Given the description of an element on the screen output the (x, y) to click on. 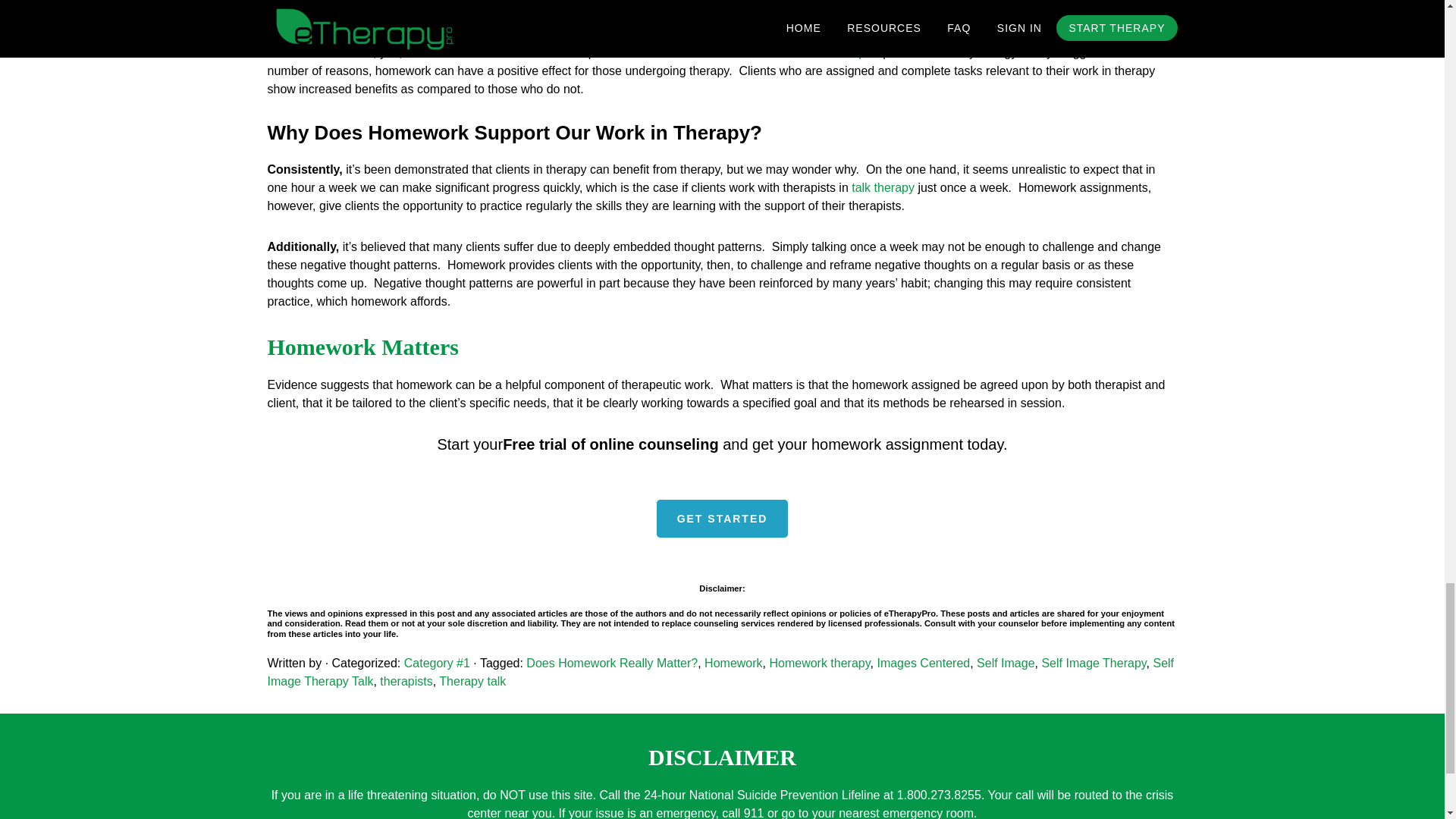
Homework (732, 662)
Self Image (1004, 662)
Does Homework Really Matter? (611, 662)
GET STARTED (722, 518)
Images Centered (922, 662)
talk therapy (882, 187)
recent report (843, 51)
Homework therapy (818, 662)
